Given the description of an element on the screen output the (x, y) to click on. 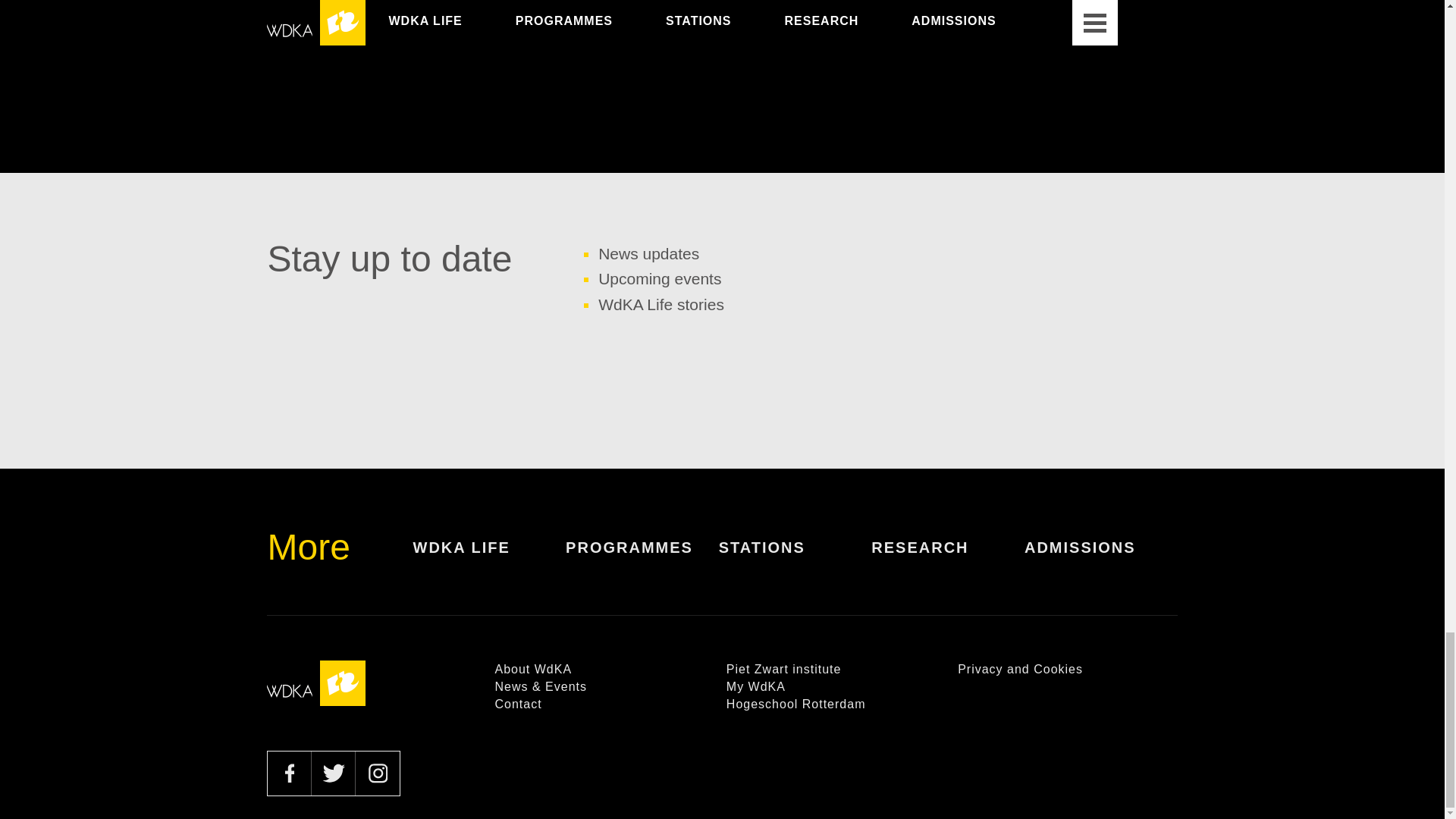
RESEARCH (947, 558)
Programmes (642, 558)
Admissions (1101, 558)
Stations (795, 558)
Research (947, 558)
Willem de Kooning Academie Homepage (315, 682)
PROGRAMMES (642, 558)
WDKA LIFE (489, 558)
WdKA Life (489, 558)
SEE ALL STUDENT WORK (722, 24)
STATIONS (795, 558)
